Given the description of an element on the screen output the (x, y) to click on. 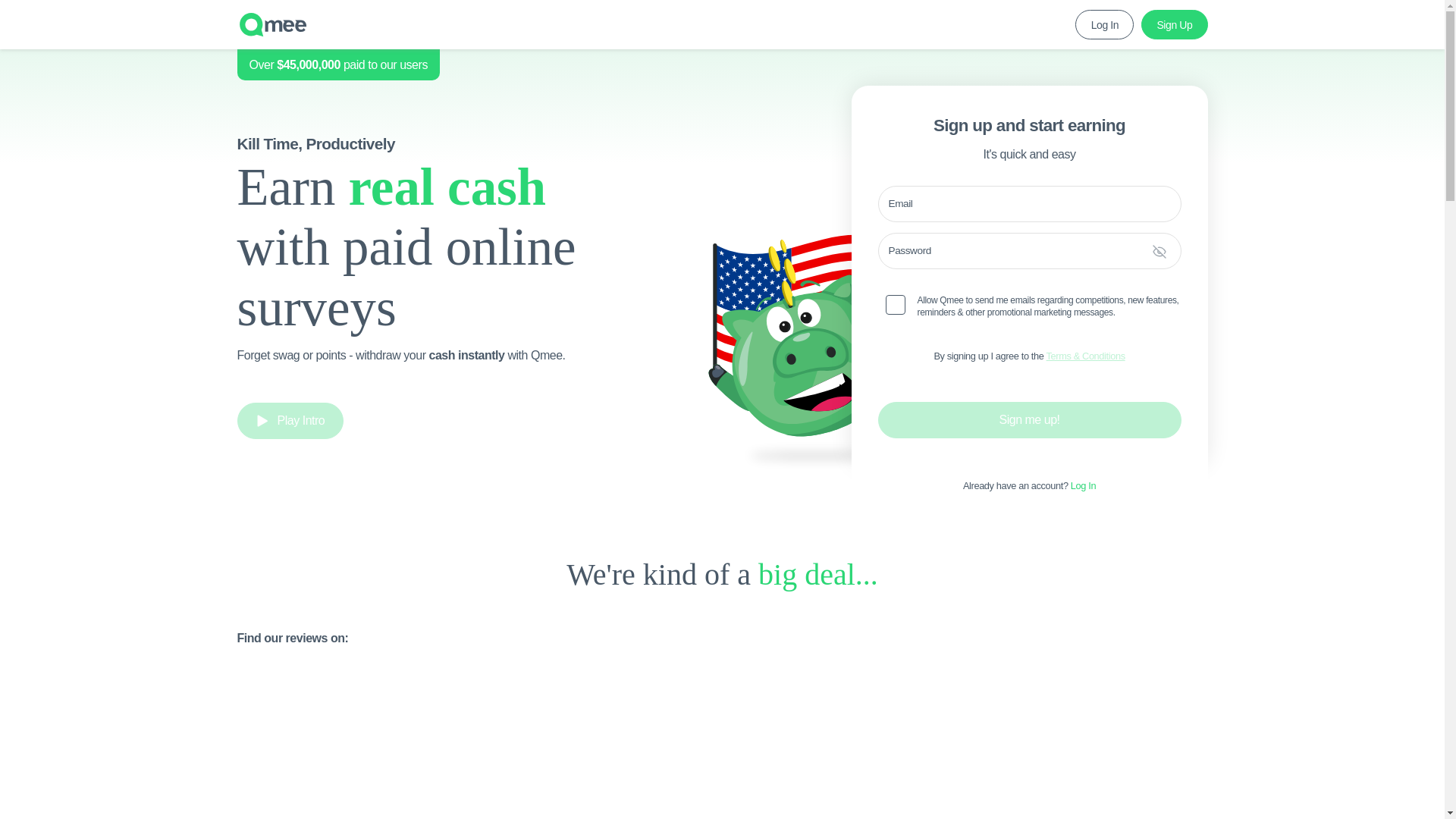
Log In (1104, 23)
Sign Up (1174, 23)
Surveys (258, 29)
Gaming (455, 29)
Cashback (331, 29)
Log In (1083, 485)
Play Intro (289, 420)
Sign me up! (1028, 420)
Find our reviews on: (721, 668)
on (895, 304)
Search (568, 29)
